Given the description of an element on the screen output the (x, y) to click on. 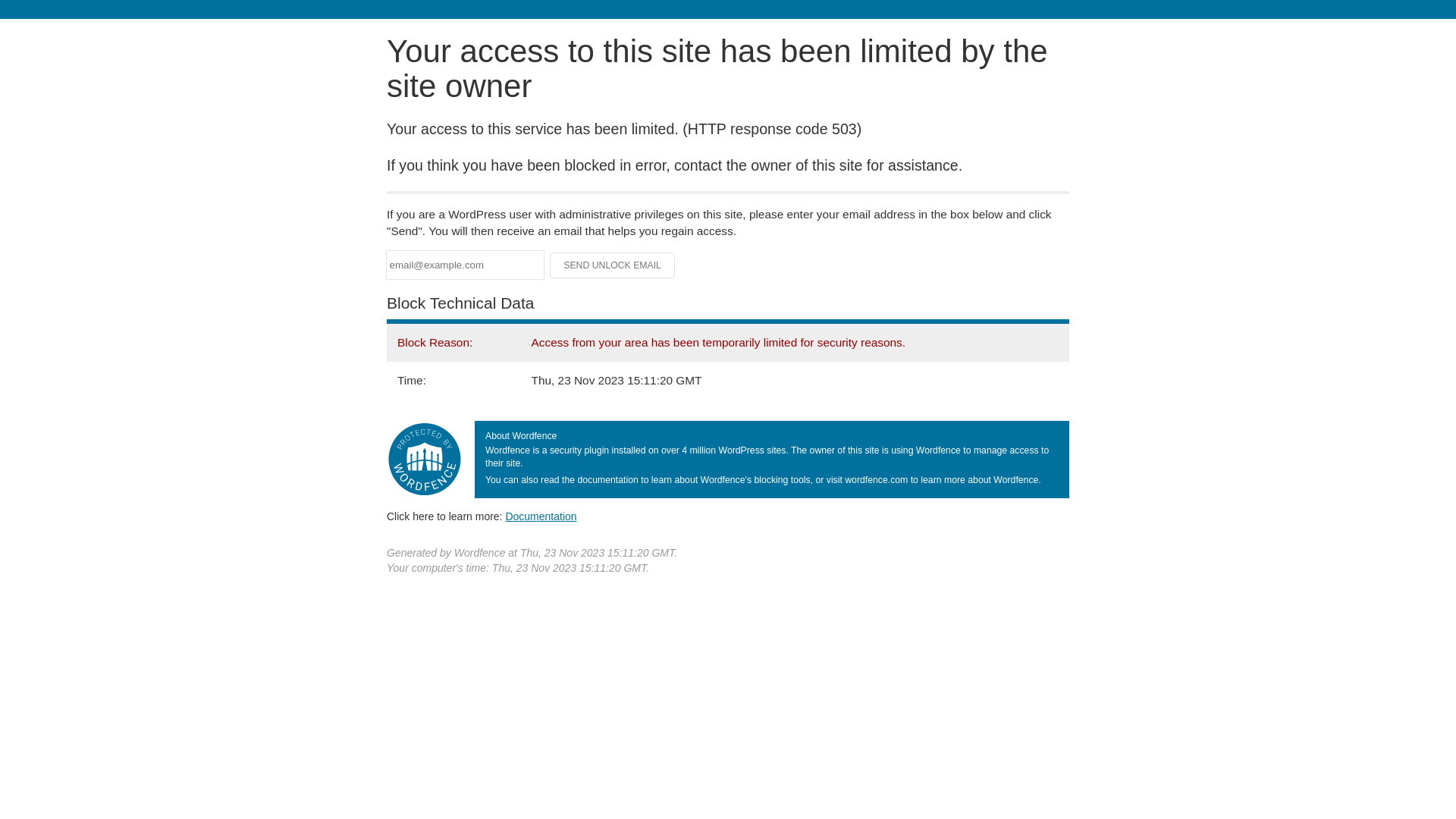
Send Unlock Email Element type: text (612, 265)
Documentation Element type: text (540, 516)
